Given the description of an element on the screen output the (x, y) to click on. 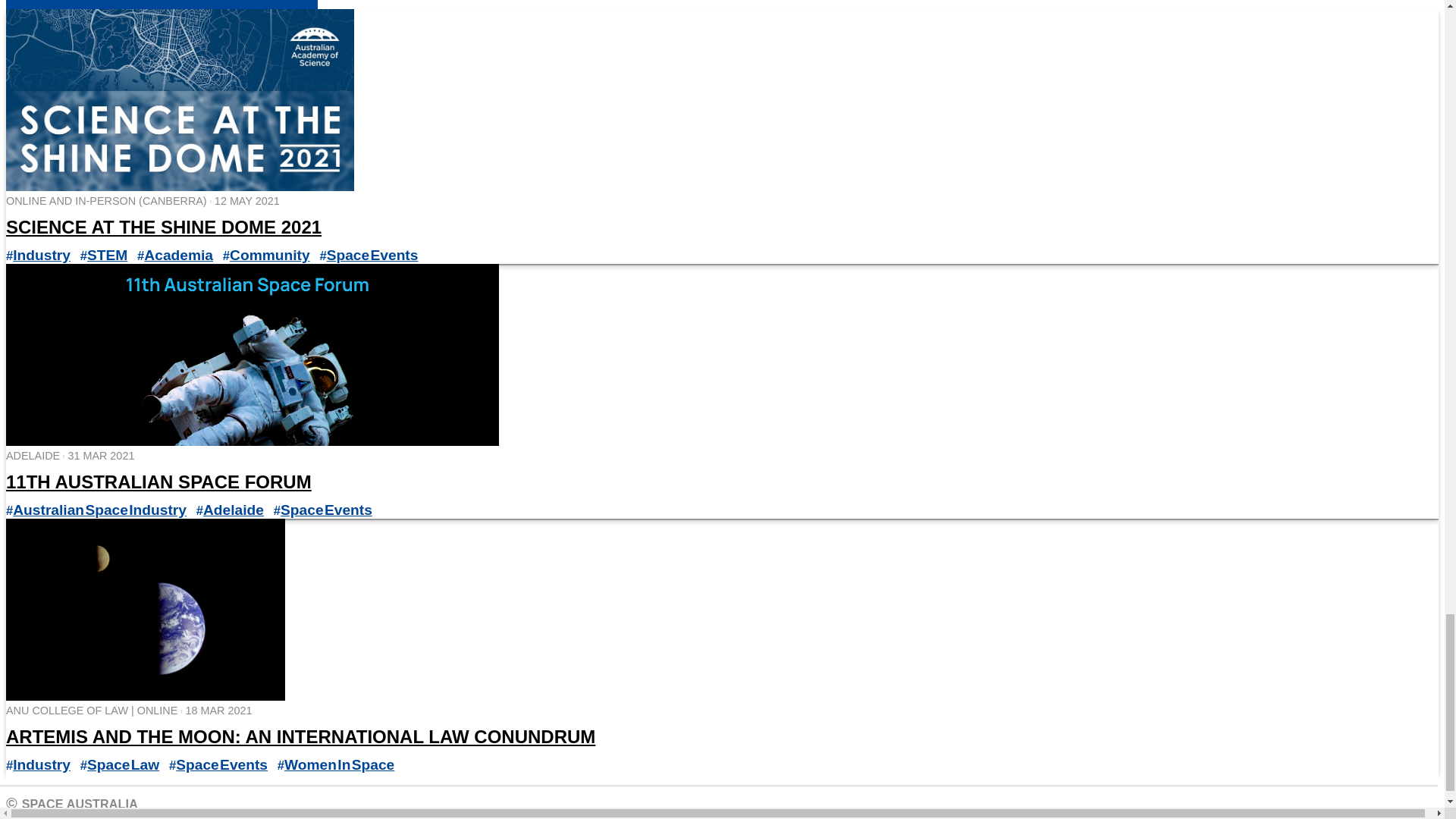
Space Events (326, 509)
SCIENCE AT THE SHINE DOME 2021 (163, 227)
Academia (178, 254)
Community (270, 254)
Australian Space Industry (99, 509)
Industry (41, 254)
Adelaide (233, 509)
11TH AUSTRALIAN SPACE FORUM (158, 481)
STEM (107, 254)
Space Events (372, 254)
